Given the description of an element on the screen output the (x, y) to click on. 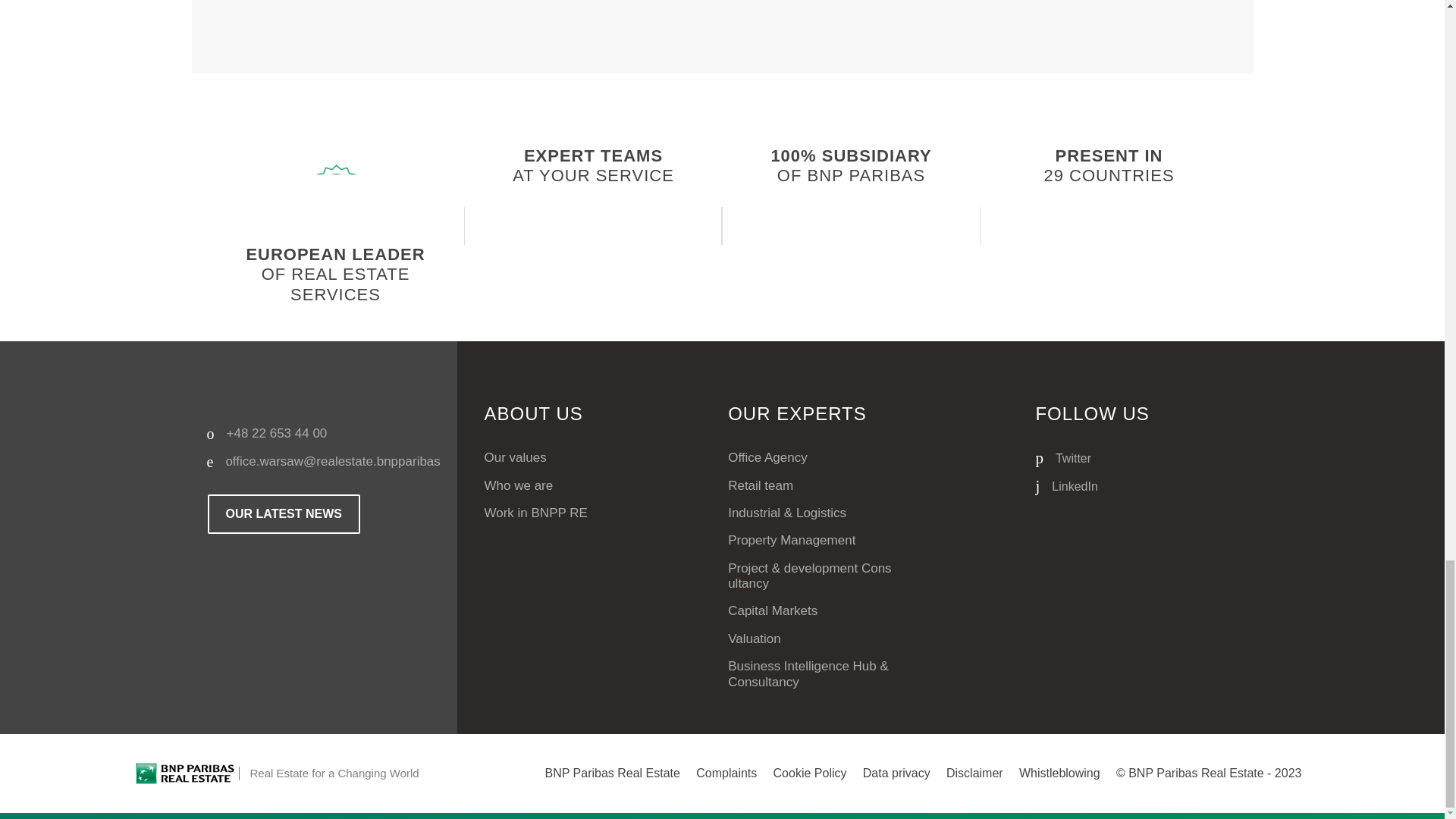
Our values (534, 458)
Property Management (811, 540)
Retail team (811, 485)
LinkedIn (1091, 486)
Office Agency (811, 458)
Property Management (811, 540)
OUR LATEST NEWS (282, 513)
Capital Markets (811, 611)
Capital Markets (811, 611)
Twitter (1091, 458)
